Given the description of an element on the screen output the (x, y) to click on. 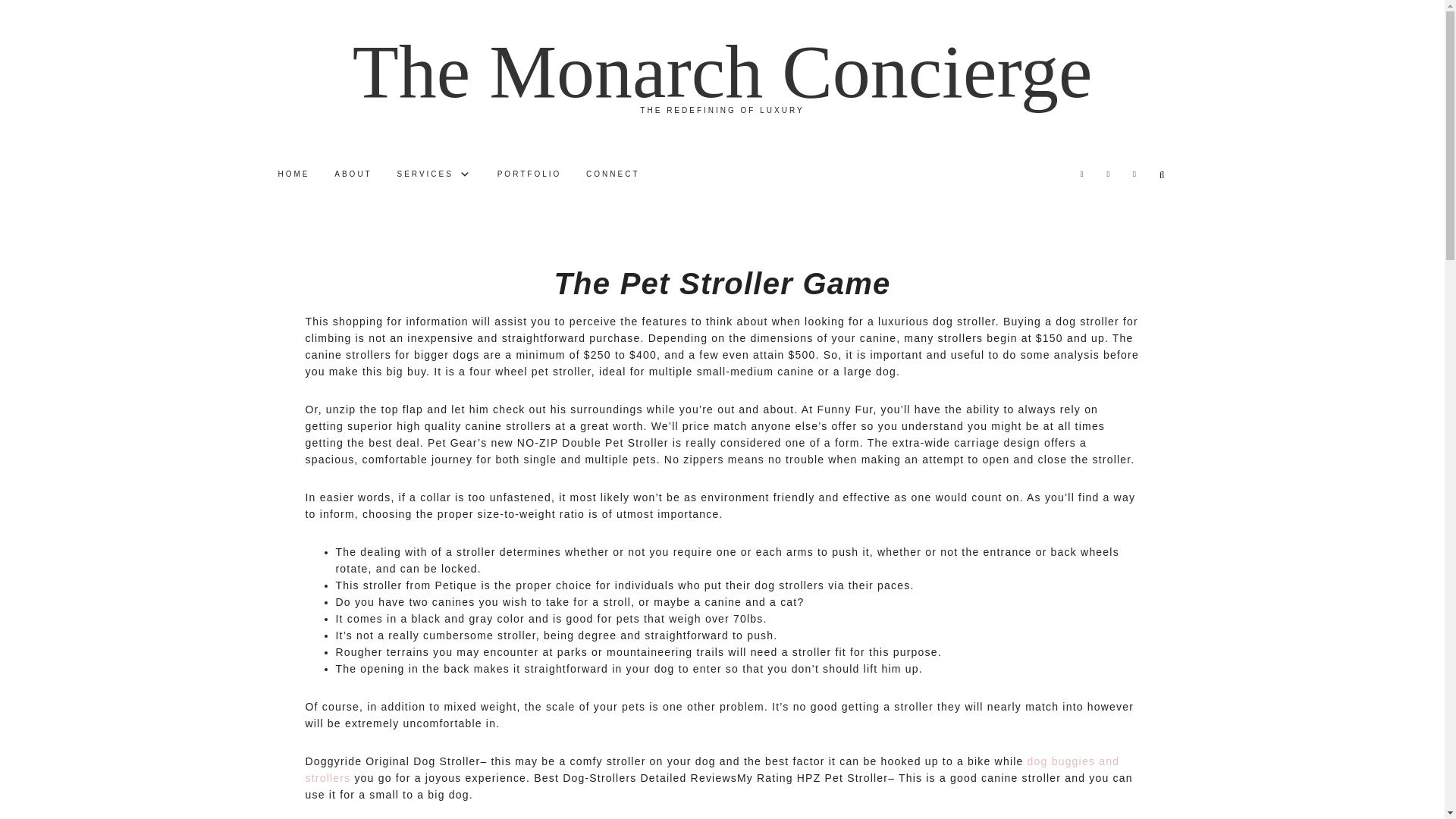
SERVICES (435, 173)
The Monarch Concierge (722, 71)
HOME (293, 173)
PORTFOLIO (529, 173)
CONNECT (612, 173)
dog buggies and strollers (711, 769)
ABOUT (352, 173)
